Given the description of an element on the screen output the (x, y) to click on. 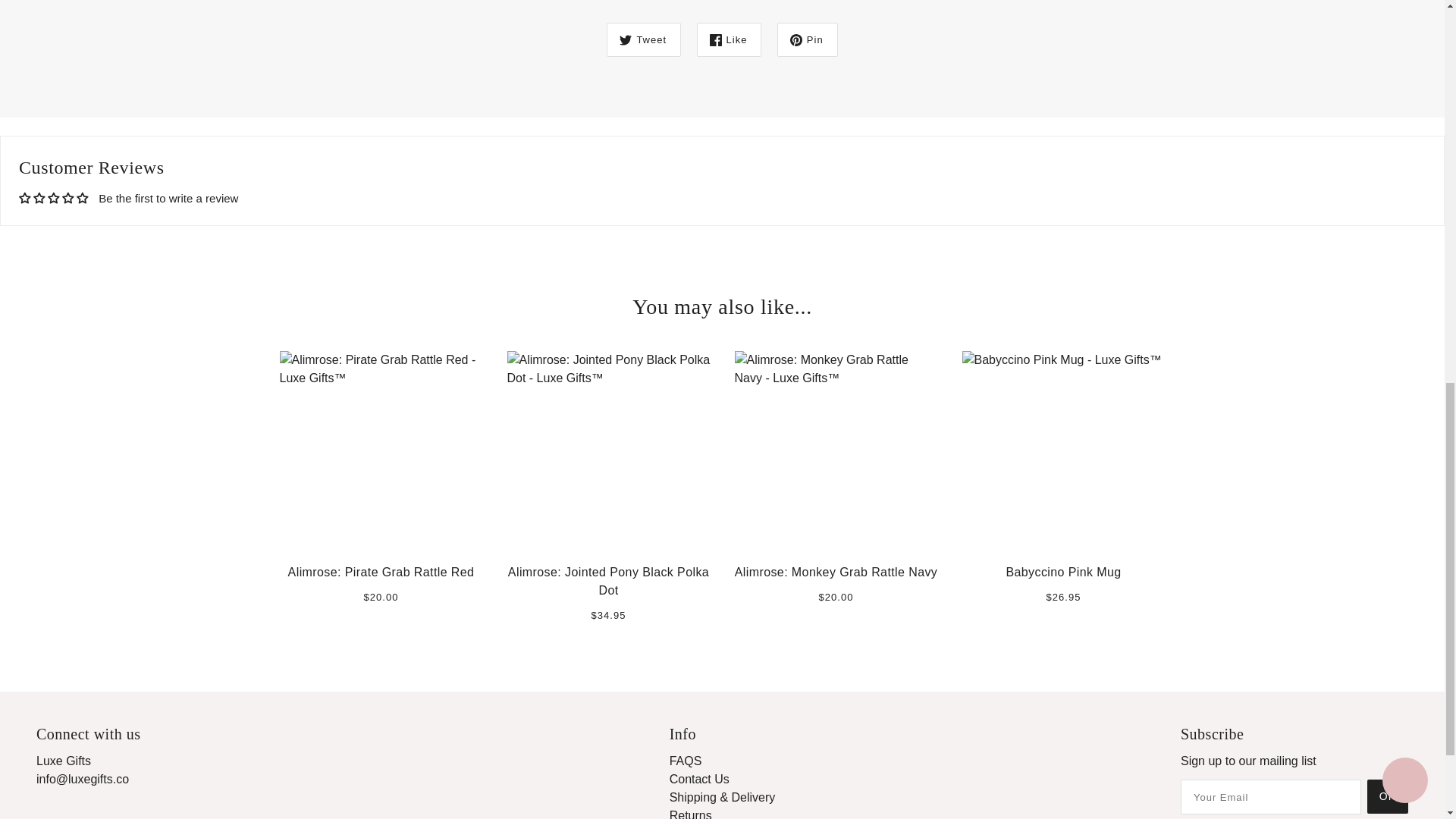
Returns (690, 814)
FAQS (685, 760)
Contact Us (699, 779)
